Given the description of an element on the screen output the (x, y) to click on. 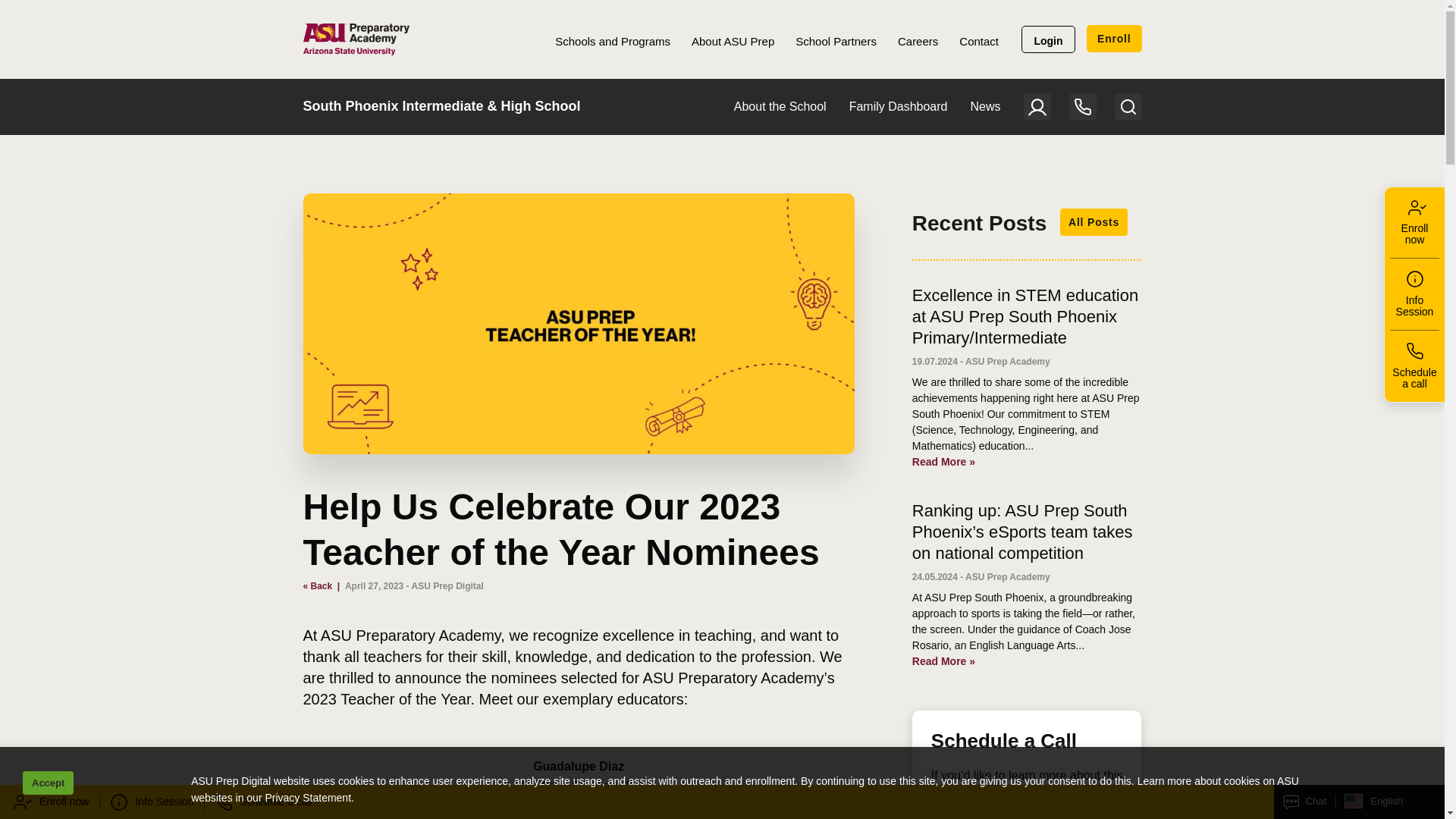
Enroll now (48, 801)
Enroll now (1414, 222)
Info Session (1414, 294)
Info Session (151, 801)
Schedule a call (1414, 366)
Schedule a call (263, 801)
